Given the description of an element on the screen output the (x, y) to click on. 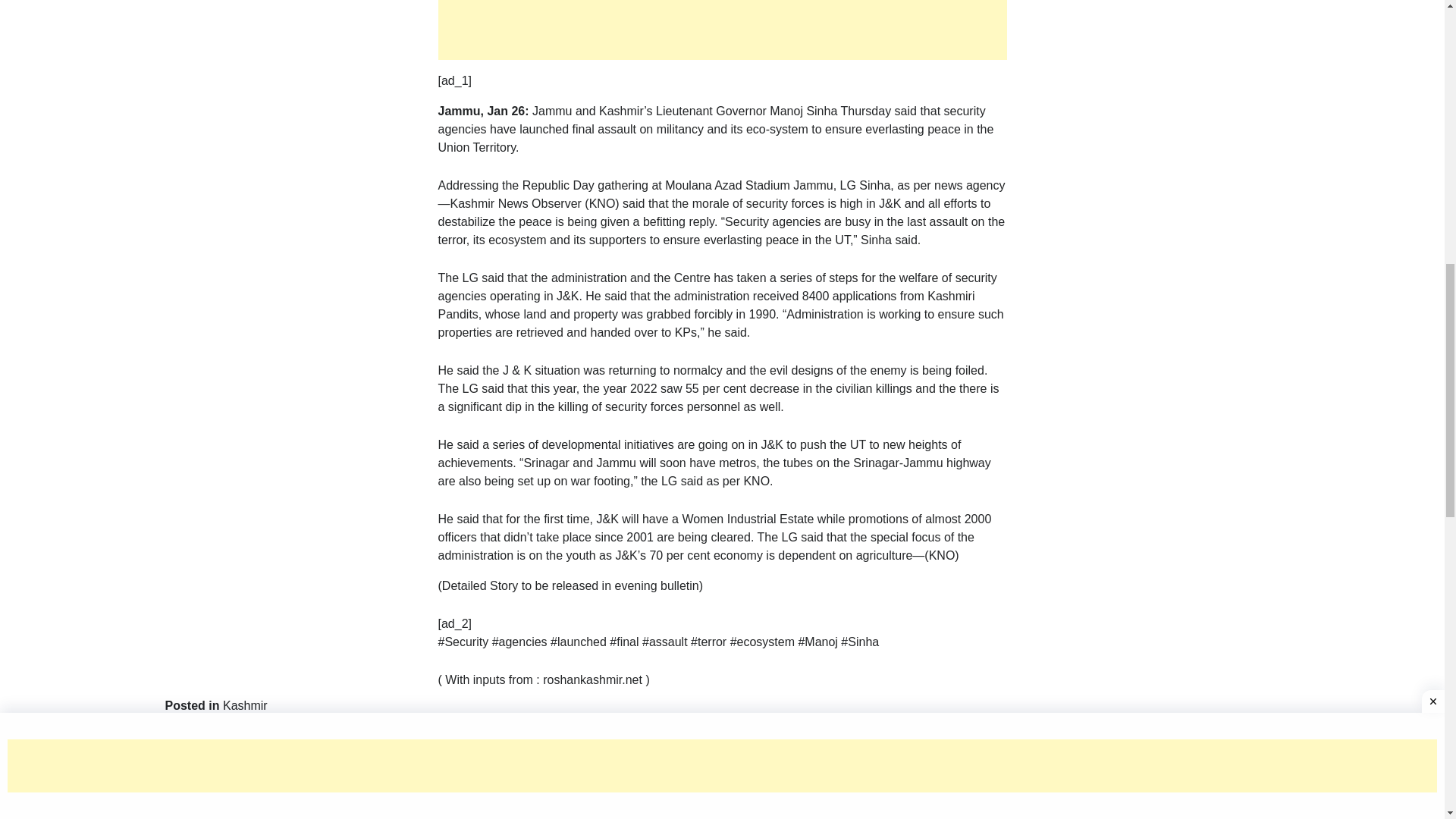
United States News (1004, 727)
Terror (714, 727)
TheNewsCaravan (895, 727)
final (386, 727)
Launched (538, 727)
Manoj (588, 727)
International News (454, 727)
Sinha (676, 727)
The News Caravan (788, 727)
